Given the description of an element on the screen output the (x, y) to click on. 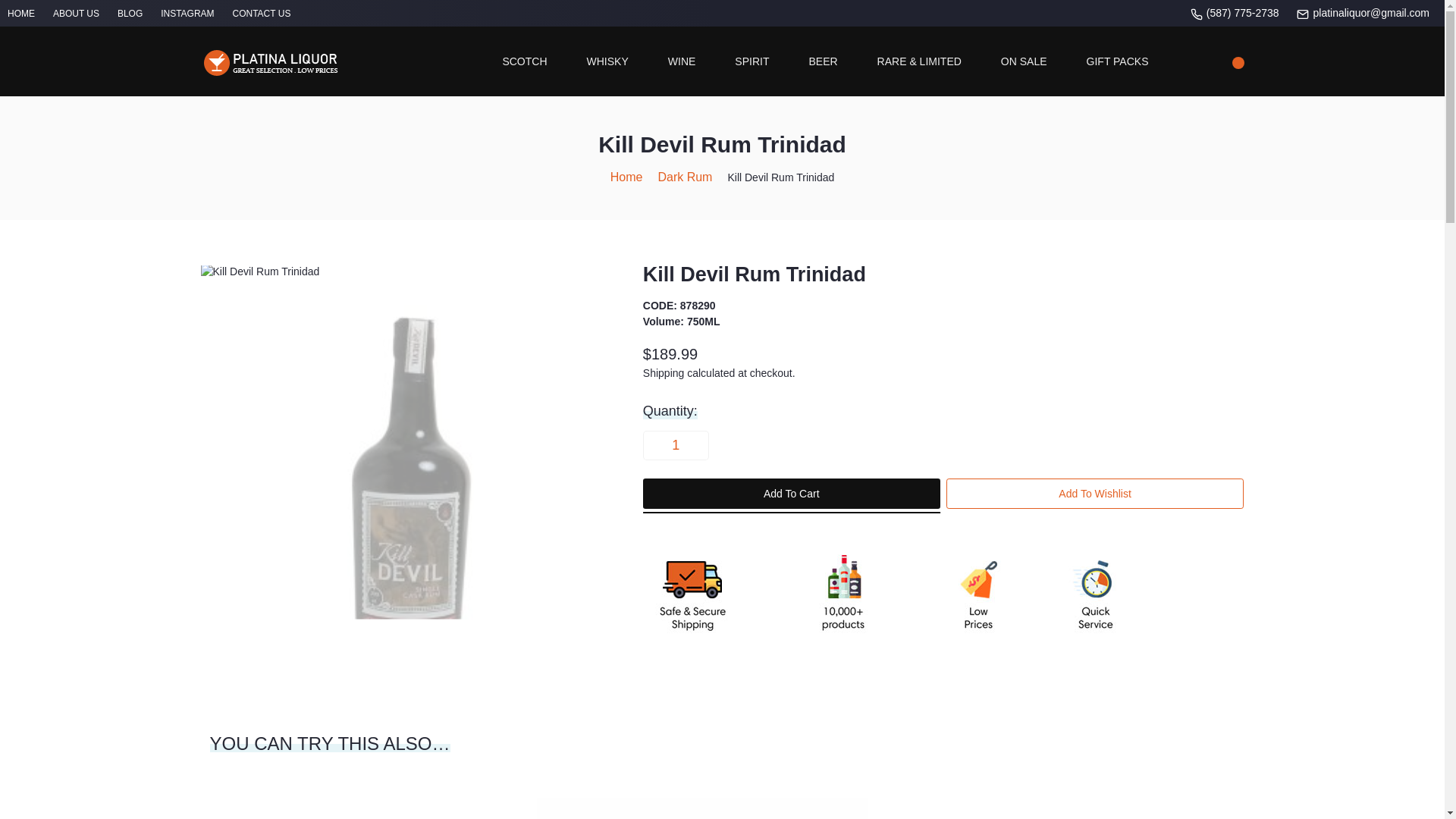
WHISKY (607, 61)
1 (675, 444)
ABOUT US (75, 13)
CONTACT US (261, 13)
SCOTCH (524, 61)
INSTAGRAM (186, 13)
WINE (681, 61)
BLOG (129, 13)
HOME (21, 13)
